Given the description of an element on the screen output the (x, y) to click on. 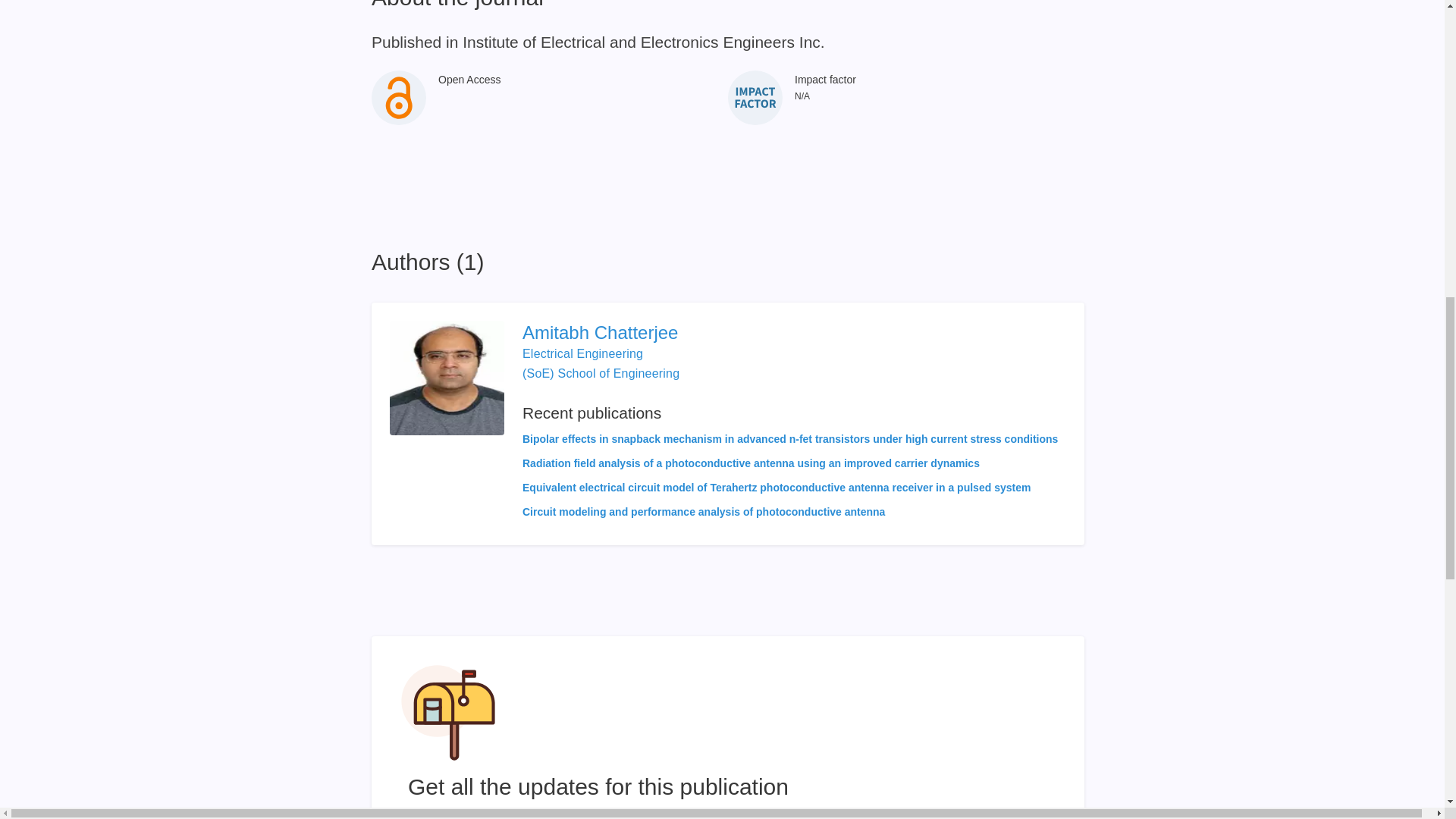
Subscribe form hero illustration (448, 712)
FOLLOW (974, 815)
Electrical Engineering (582, 353)
Amitabh Chatterjee (790, 332)
